Given the description of an element on the screen output the (x, y) to click on. 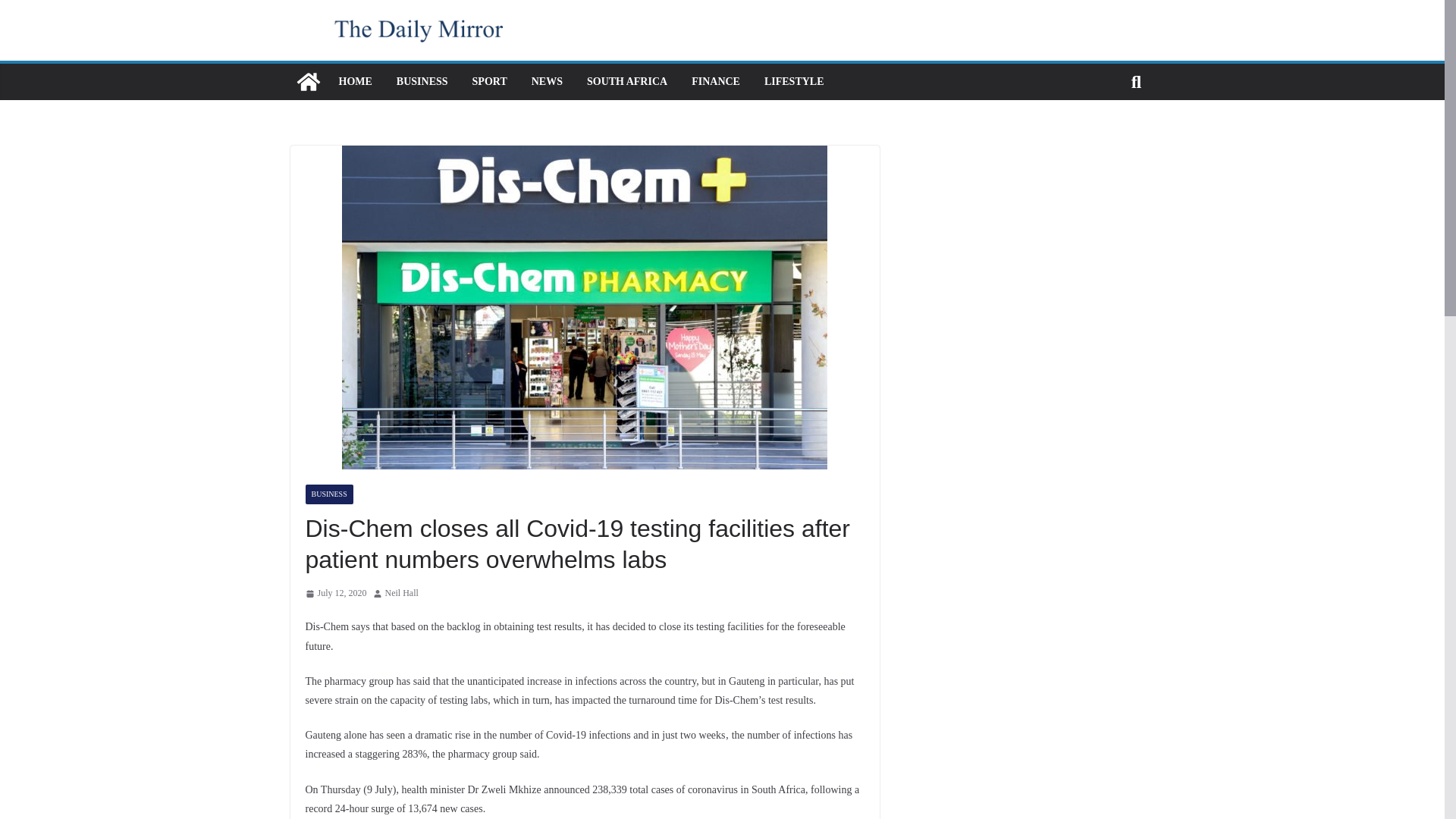
HOME (354, 81)
5:15 pm (335, 593)
Neil Hall (402, 593)
LIFESTYLE (794, 81)
BUSINESS (422, 81)
July 12, 2020 (335, 593)
SOUTH AFRICA (626, 81)
FINANCE (715, 81)
The Daily Mirror (307, 81)
SPORT (488, 81)
BUSINESS (328, 494)
NEWS (546, 81)
Neil Hall (402, 593)
